Given the description of an element on the screen output the (x, y) to click on. 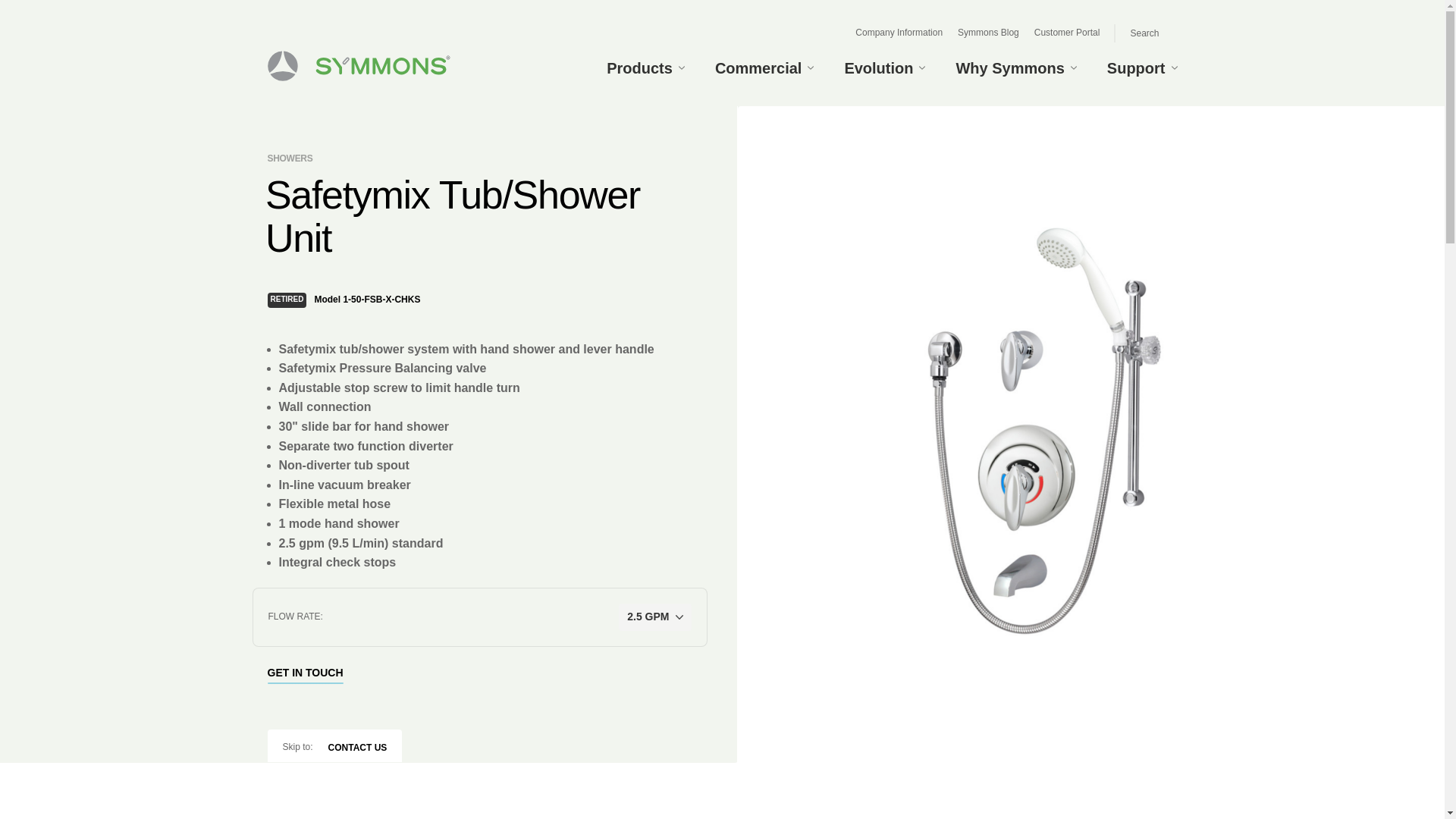
Products (653, 67)
GET IN TOUCH (313, 672)
Support (1142, 67)
Commercial (764, 67)
Why Symmons (1015, 67)
Evolution (884, 67)
